Given the description of an element on the screen output the (x, y) to click on. 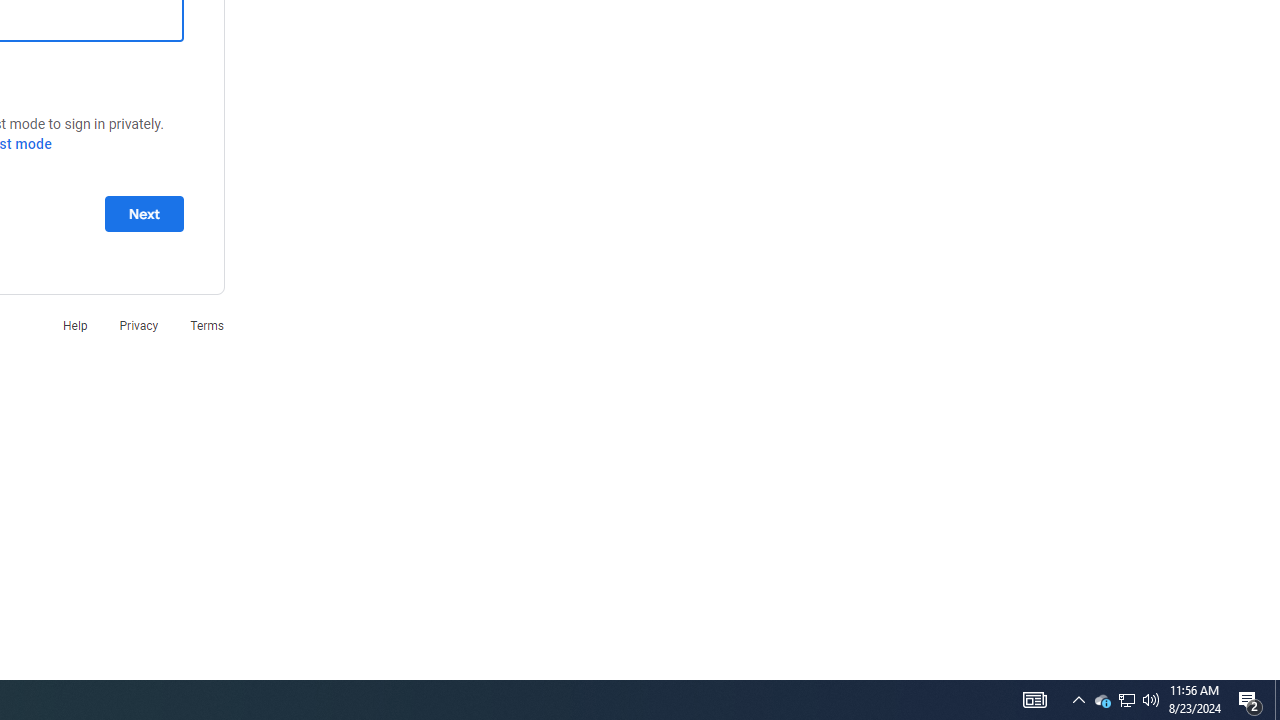
Next (143, 213)
